Given the description of an element on the screen output the (x, y) to click on. 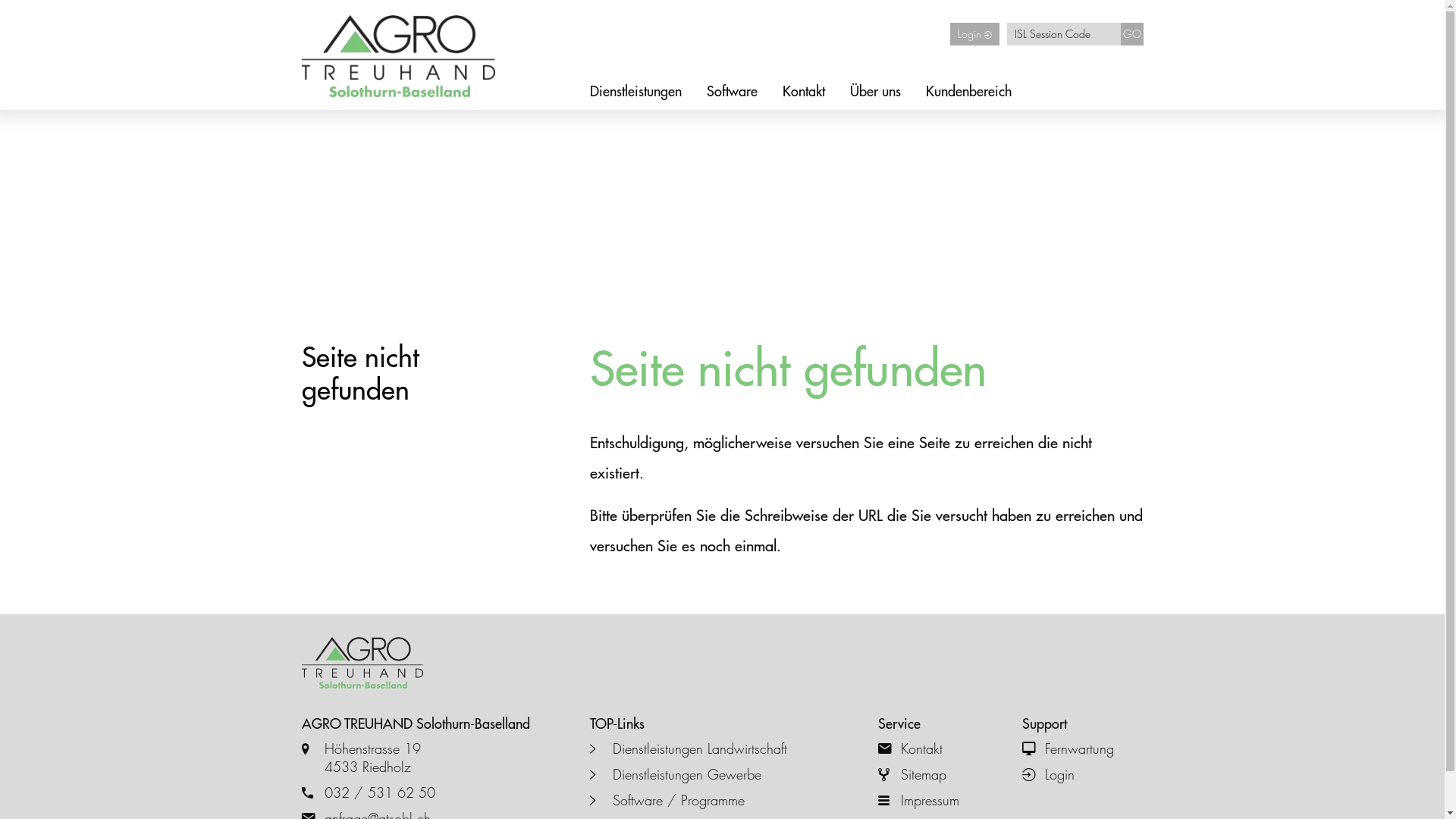
Kundenbereich Element type: text (967, 91)
Dienstleistungen Element type: text (635, 91)
Login Element type: text (973, 33)
GO Element type: text (1131, 33)
Kontakt Element type: text (803, 91)
Software Element type: text (731, 91)
Kontakt Element type: text (938, 749)
Login Element type: text (1082, 774)
032 / 531 62 50 Element type: text (434, 793)
Software / Programme Element type: text (722, 800)
Sitemap Element type: text (938, 774)
Dienstleistungen Gewerbe Element type: text (722, 774)
Dienstleistungen Landwirtschaft Element type: text (722, 749)
Impressum Element type: text (938, 800)
Fernwartung Element type: text (1082, 749)
